Given the description of an element on the screen output the (x, y) to click on. 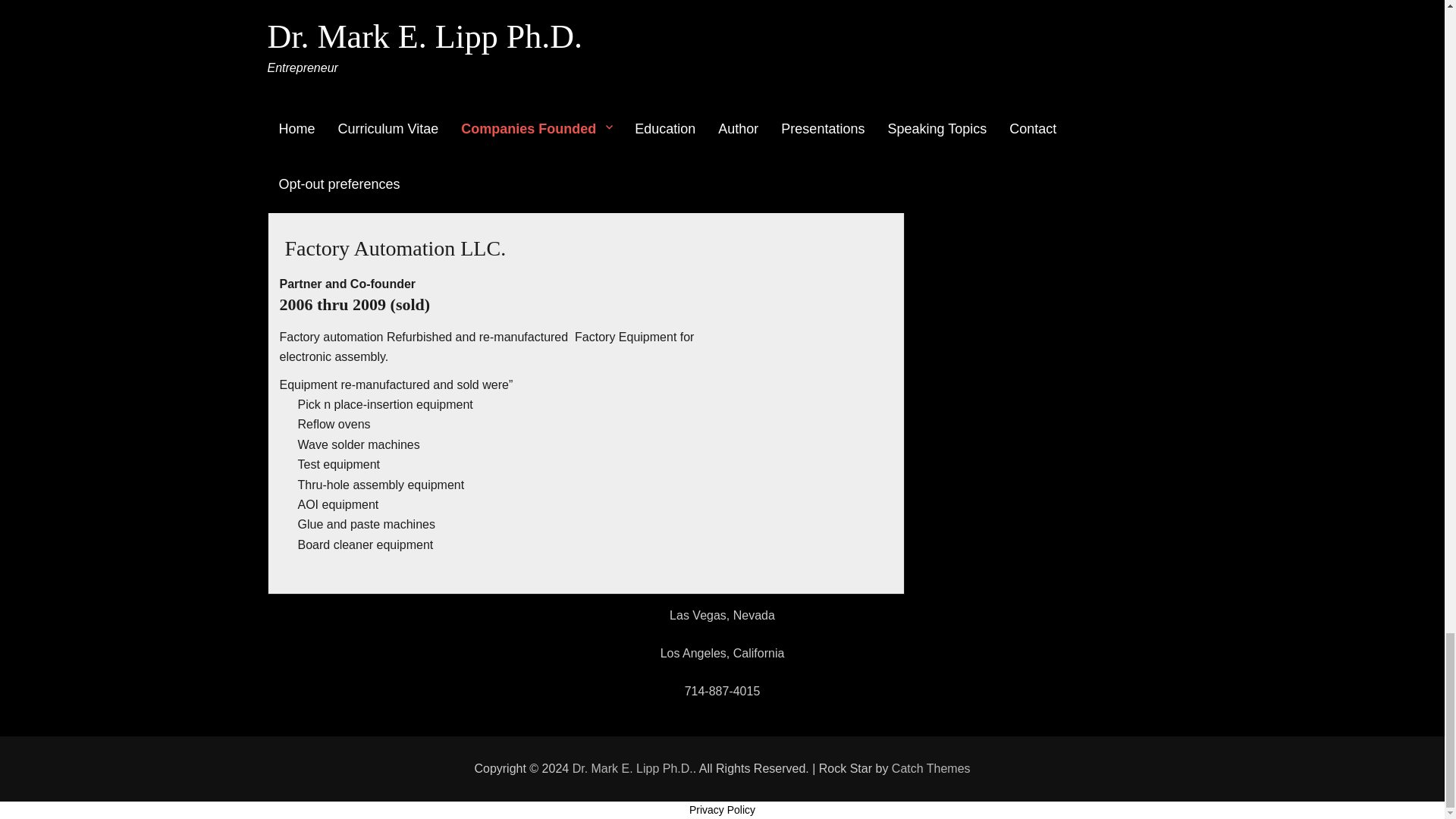
Privacy Policy (721, 809)
Dr. Mark E. Lipp Ph.D. (632, 768)
Catch Themes (931, 768)
